Given the description of an element on the screen output the (x, y) to click on. 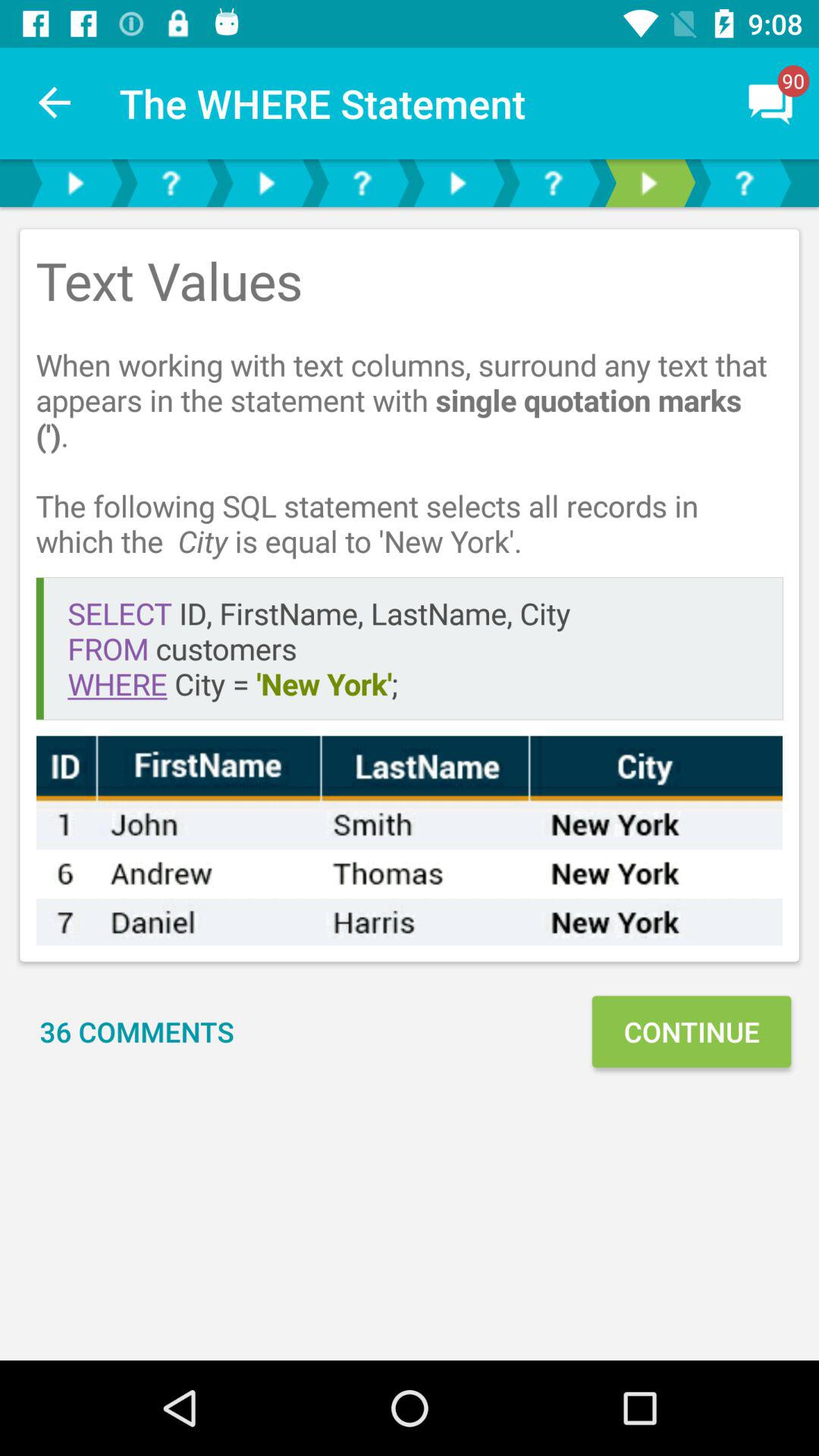
go next (265, 183)
